Given the description of an element on the screen output the (x, y) to click on. 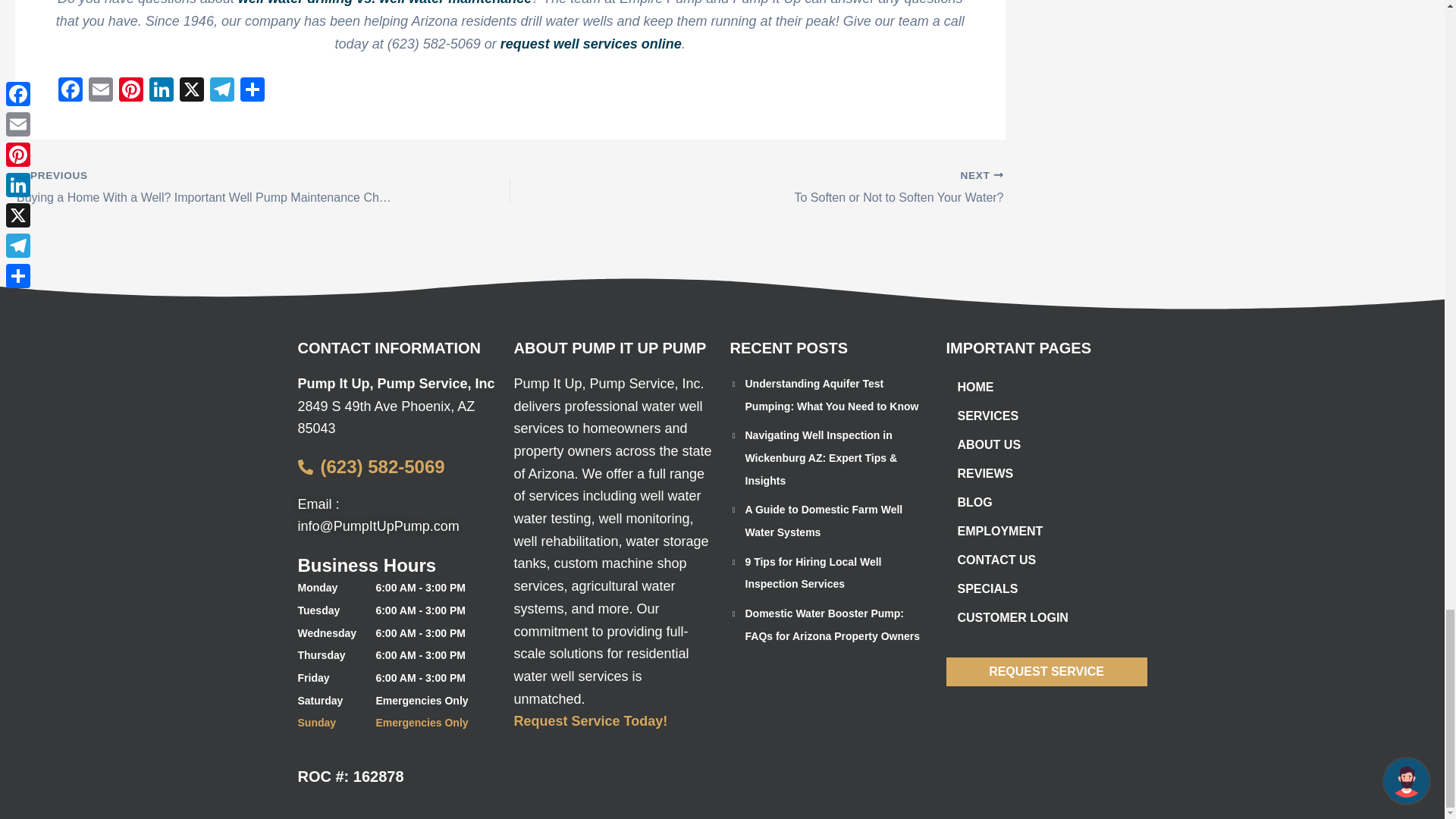
To Soften or Not to Soften Your Water? (805, 188)
Telegram (221, 90)
Facebook (70, 90)
X (191, 90)
LinkedIn (161, 90)
Pinterest (131, 90)
Email (100, 90)
